Given the description of an element on the screen output the (x, y) to click on. 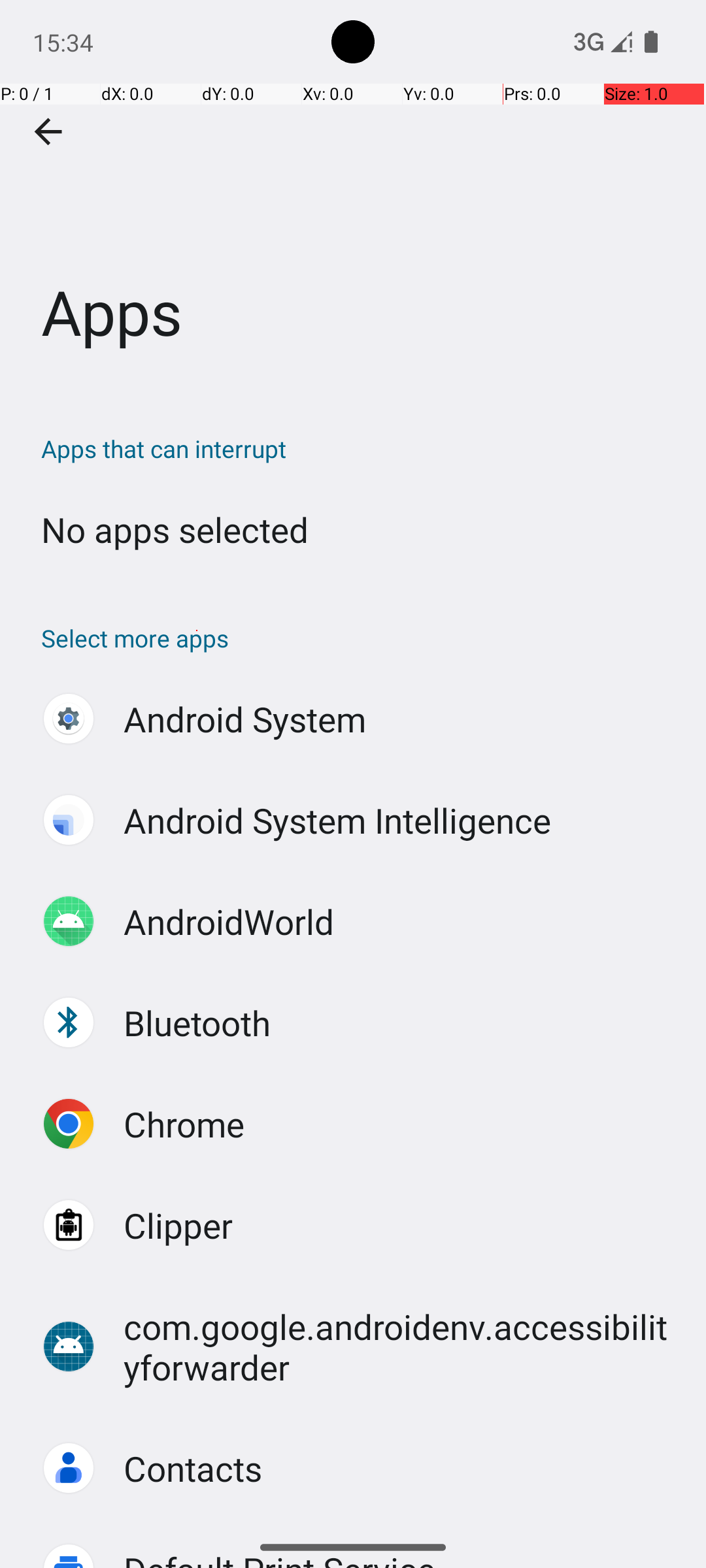
Apps that can interrupt Element type: android.widget.TextView (359, 448)
No apps selected Element type: android.widget.TextView (174, 529)
Select more apps Element type: android.widget.TextView (359, 637)
Android System Element type: android.widget.TextView (244, 718)
Android System Intelligence Element type: android.widget.TextView (337, 820)
AndroidWorld Element type: android.widget.TextView (228, 921)
Bluetooth Element type: android.widget.TextView (197, 1022)
Clipper Element type: android.widget.TextView (177, 1225)
com.google.androidenv.accessibilityforwarder Element type: android.widget.TextView (400, 1346)
